Given the description of an element on the screen output the (x, y) to click on. 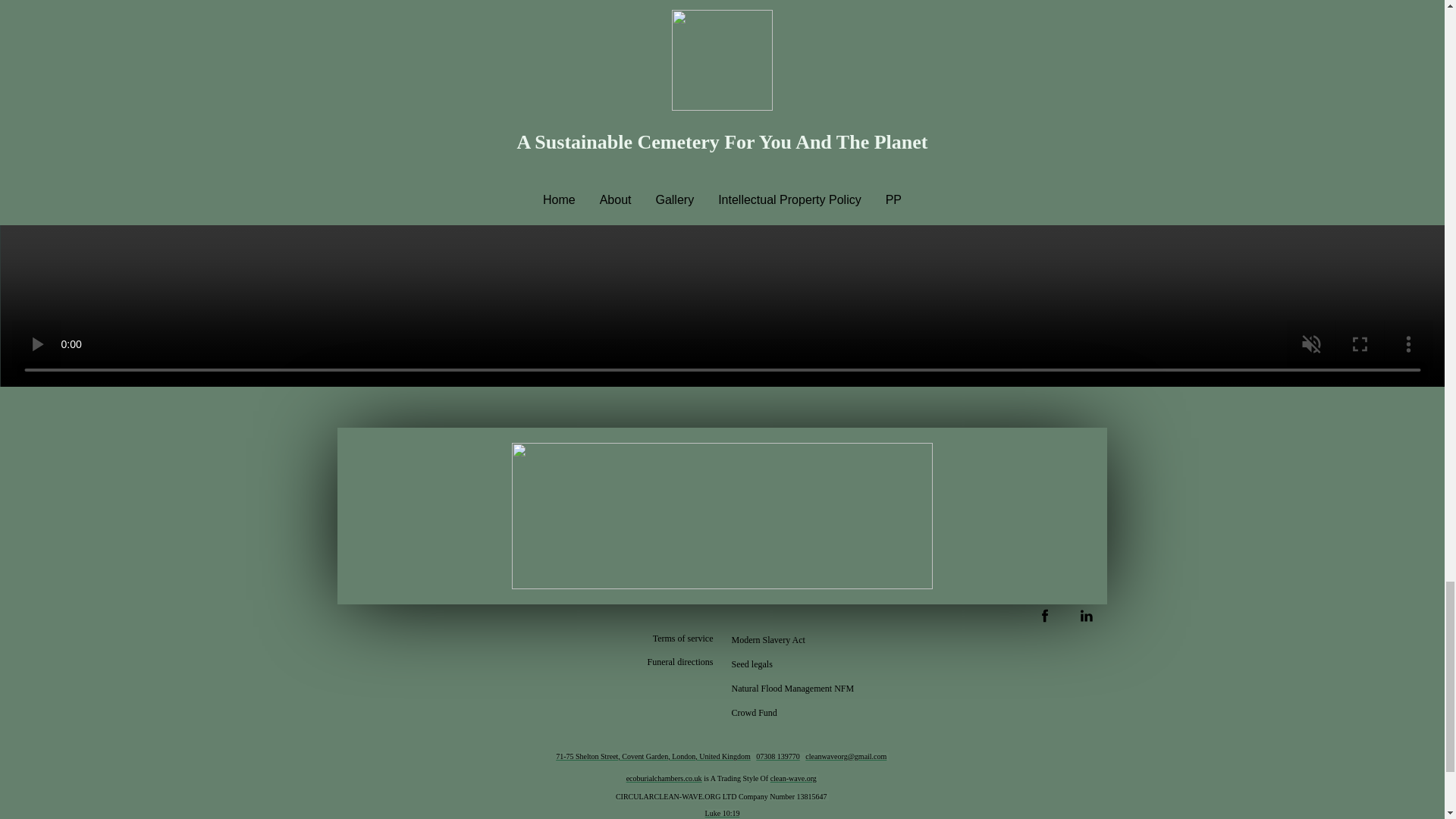
Terms of service (682, 638)
Seed legals (751, 663)
ecoburialchambers.co.uk (663, 777)
clean-wave.org (793, 777)
Funeral directions (680, 661)
71-75 Shelton Street, Covent Garden, London, United Kingdom (653, 756)
Modern Slavery Act (767, 639)
Luke 10:19 (721, 811)
Natural Flood Management NFM (792, 687)
Crowd Fund (754, 711)
07308 139770 (777, 756)
